Given the description of an element on the screen output the (x, y) to click on. 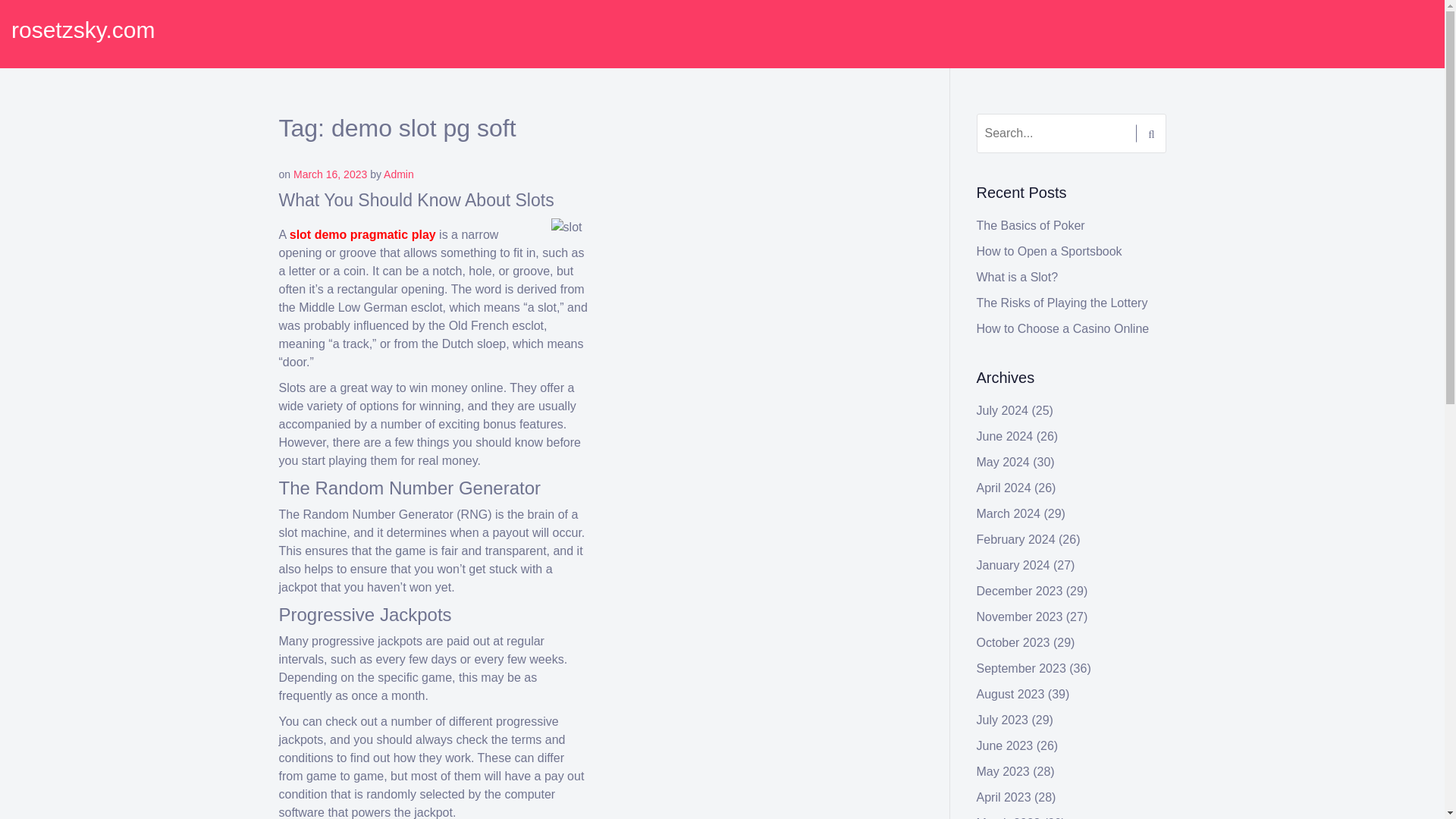
The Basics of Poker (1030, 225)
September 2023 (1020, 667)
July 2024 (1002, 410)
What is a Slot? (1017, 277)
June 2023 (1004, 745)
March 2024 (1008, 513)
How to Open a Sportsbook (1049, 250)
December 2023 (1019, 590)
May 2024 (1002, 461)
May 2023 (1002, 771)
rosetzsky.com (82, 29)
February 2024 (1015, 539)
August 2023 (1010, 694)
How to Choose a Casino Online (1063, 328)
November 2023 (1019, 616)
